Given the description of an element on the screen output the (x, y) to click on. 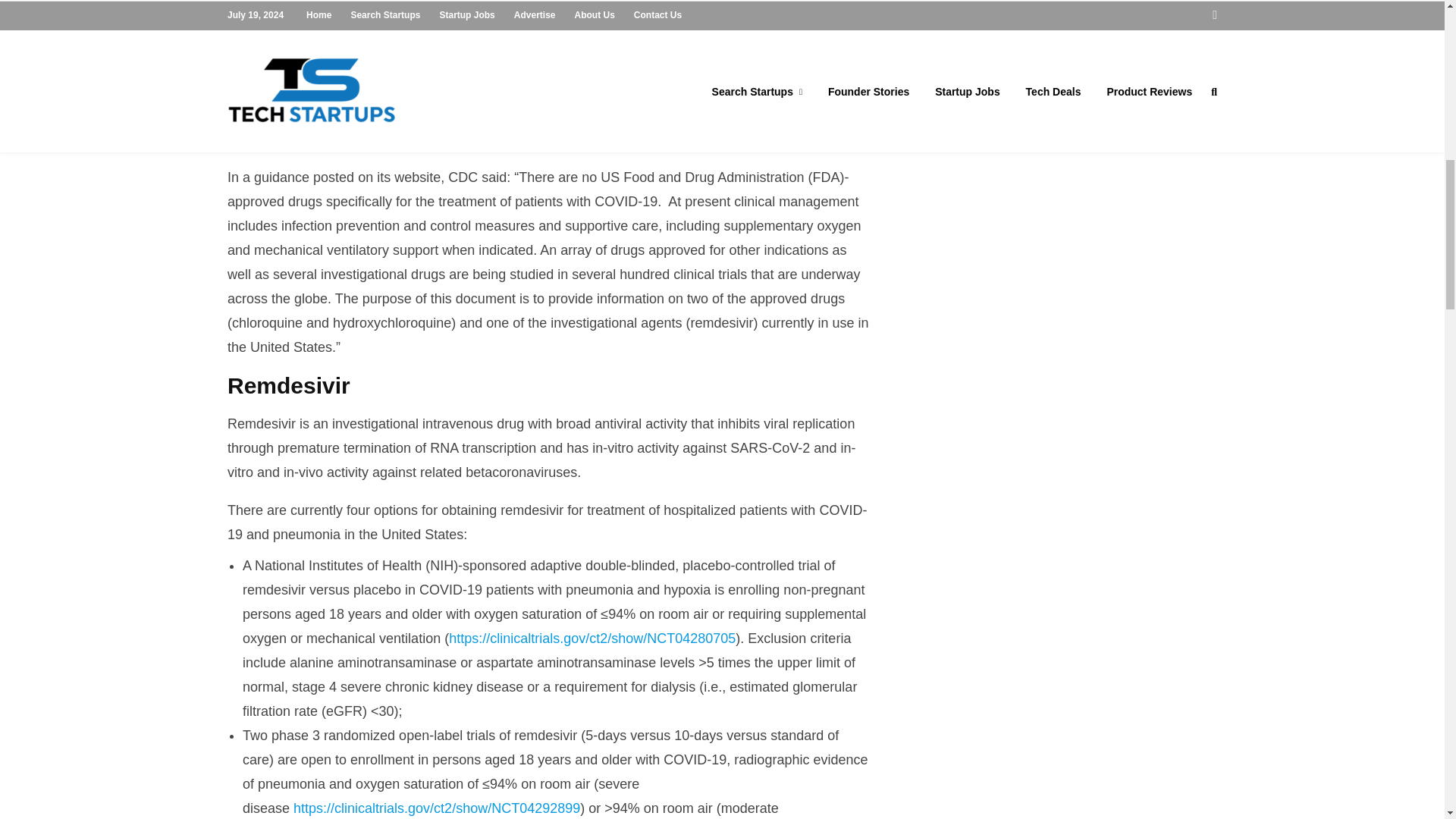
wrote (284, 90)
Advertisement (1064, 102)
